Given the description of an element on the screen output the (x, y) to click on. 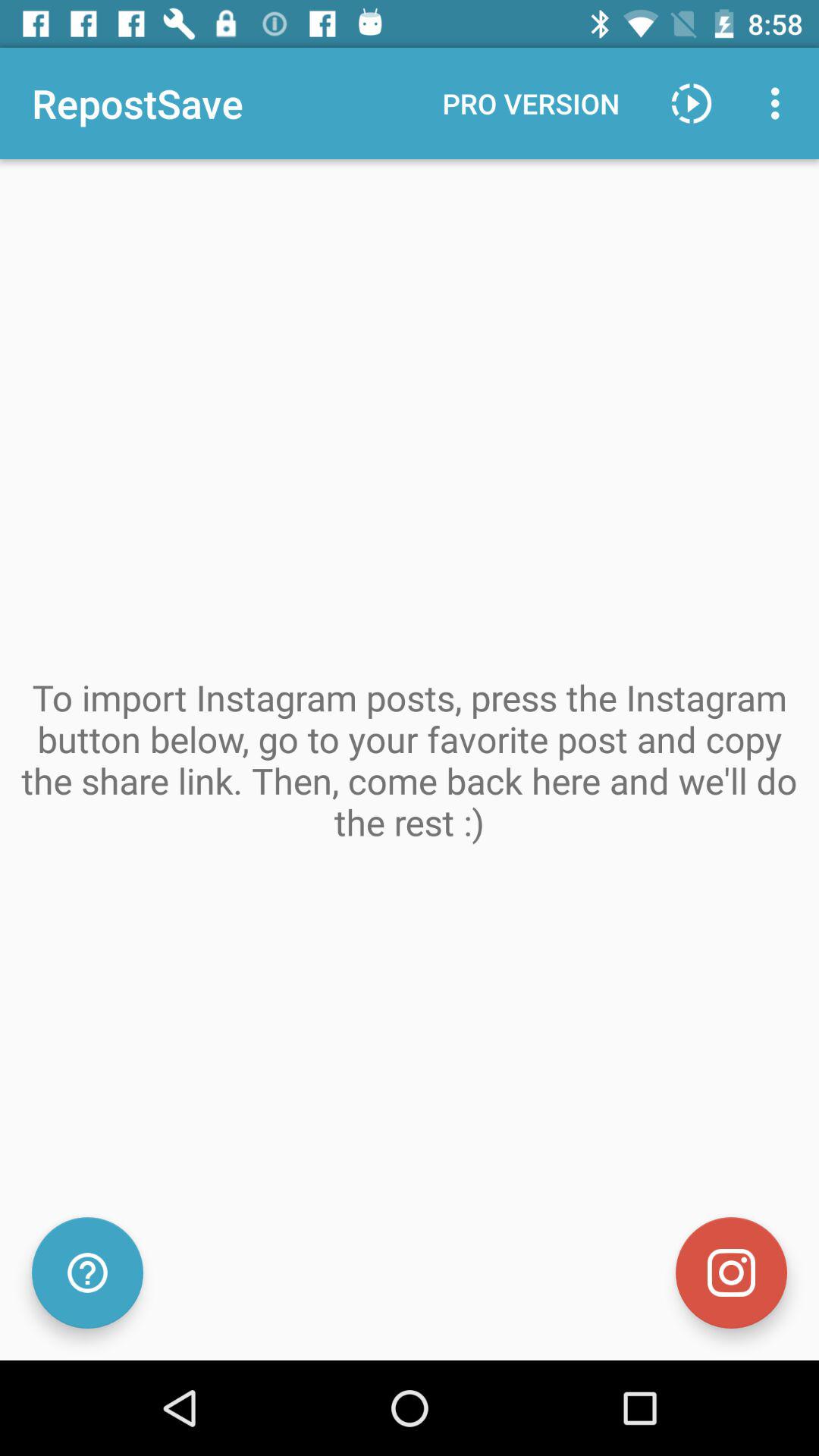
tap icon above to import instagram item (779, 103)
